Given the description of an element on the screen output the (x, y) to click on. 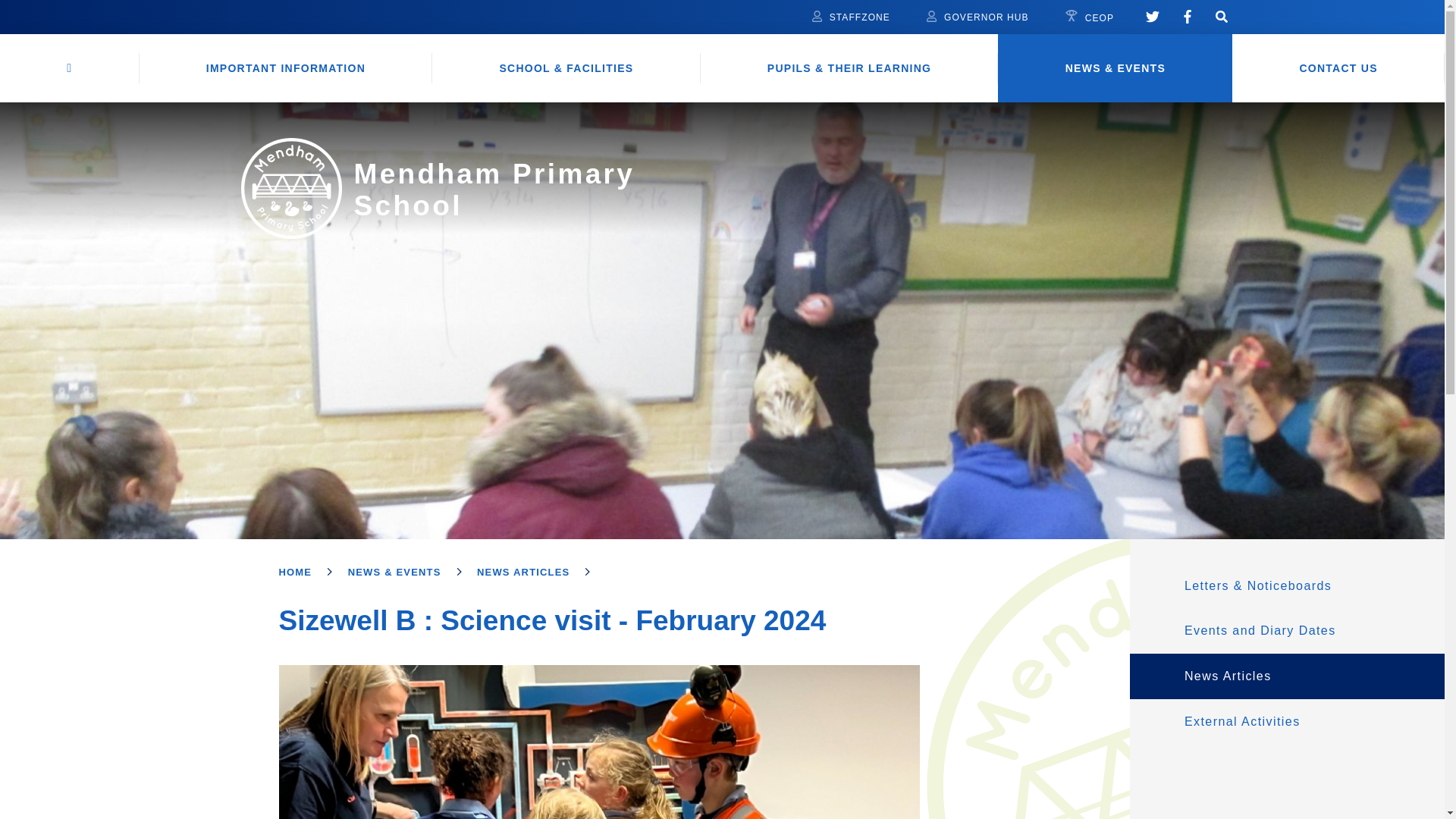
CEOP (1089, 16)
STAFFZONE (850, 16)
HOME (69, 68)
GOVERNOR HUB (977, 16)
IMPORTANT INFORMATION (285, 68)
